Given the description of an element on the screen output the (x, y) to click on. 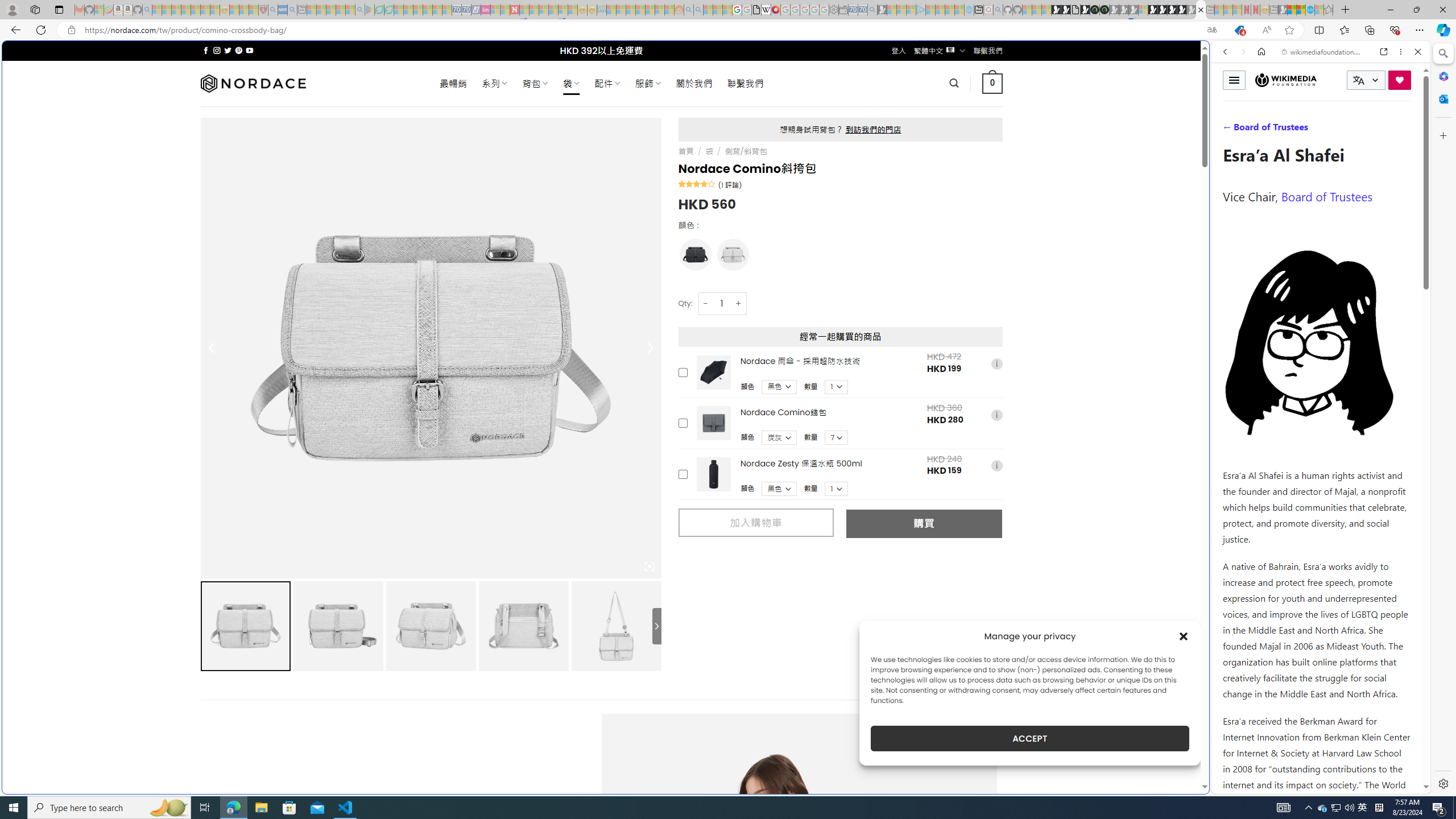
Pets - MSN - Sleeping (340, 9)
Bluey: Let's Play! - Apps on Google Play - Sleeping (369, 9)
 0  (992, 83)
Toggle menu (1233, 80)
Wikimedia Foundation (1285, 79)
